Given the description of an element on the screen output the (x, y) to click on. 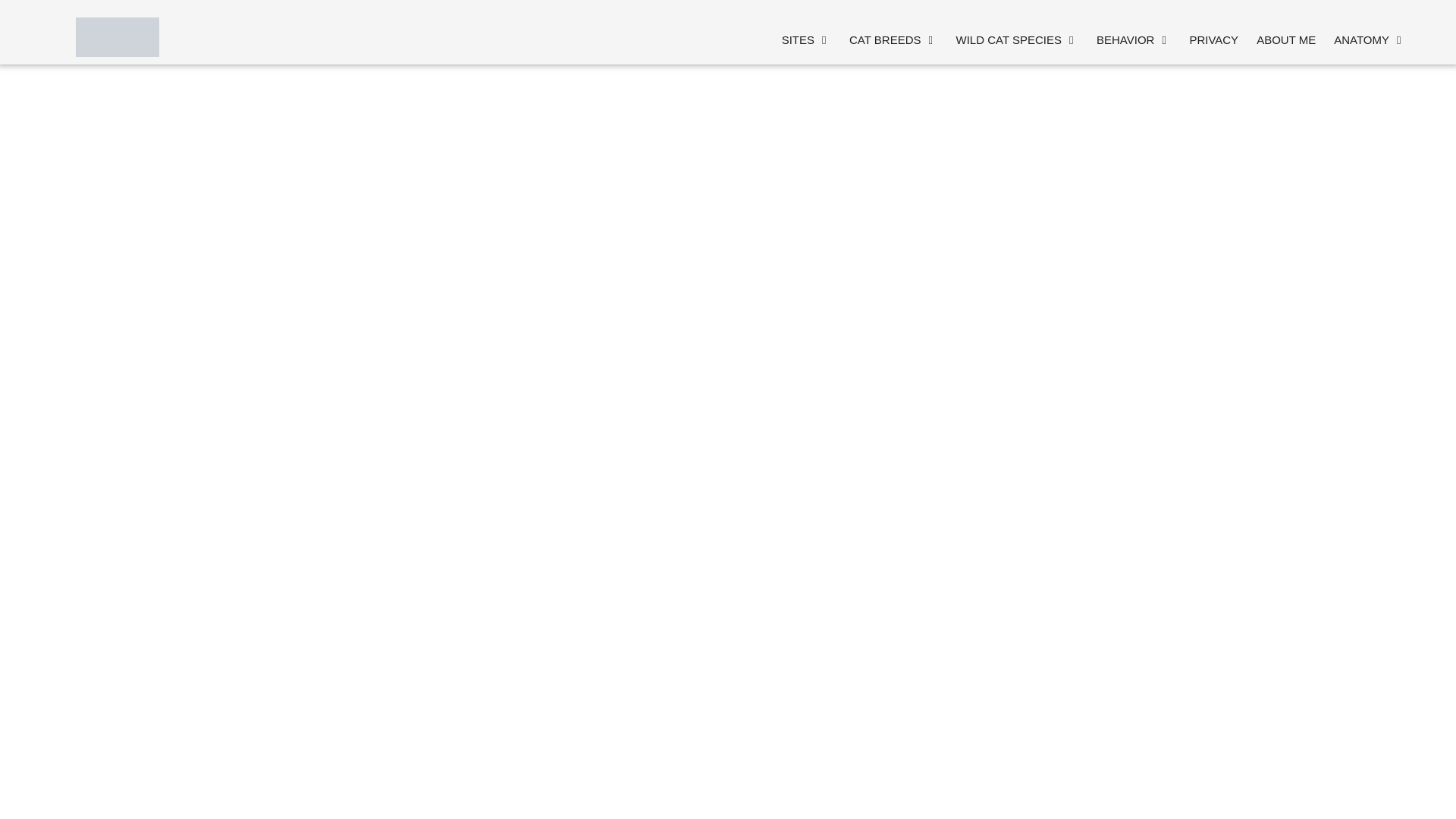
All the cat breeds fully discussed and illustrated (893, 40)
SITES (806, 40)
All the wild cat species listed (1016, 40)
WILD CAT SPECIES (1016, 40)
BEHAVIOR (1133, 40)
CAT BREEDS (893, 40)
